Given the description of an element on the screen output the (x, y) to click on. 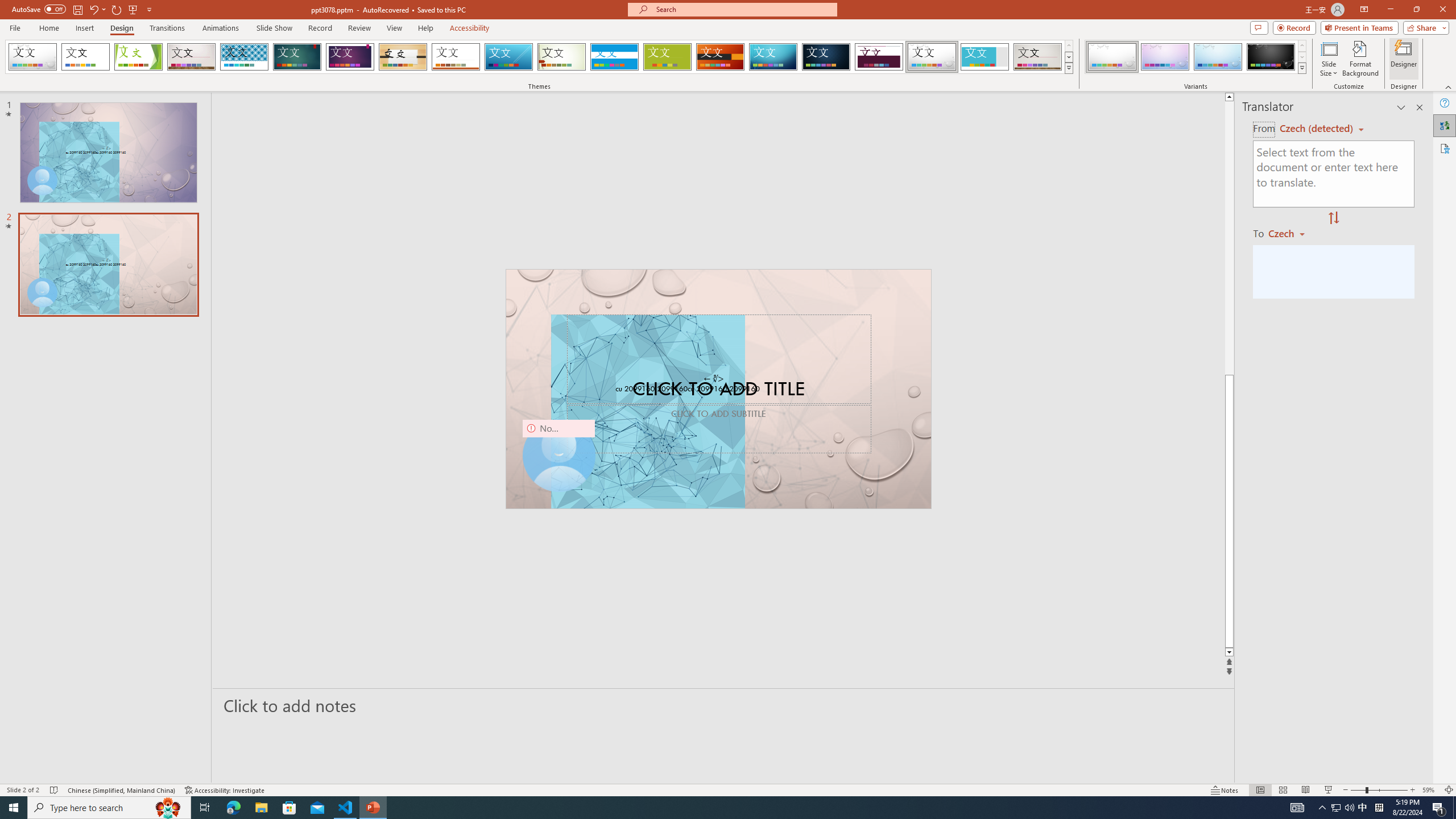
Integral (244, 56)
Dividend (879, 56)
Berlin (720, 56)
Subtitle TextBox (718, 428)
Droplet Variant 3 (1217, 56)
Droplet Variant 1 (1112, 56)
Banded (614, 56)
